Given the description of an element on the screen output the (x, y) to click on. 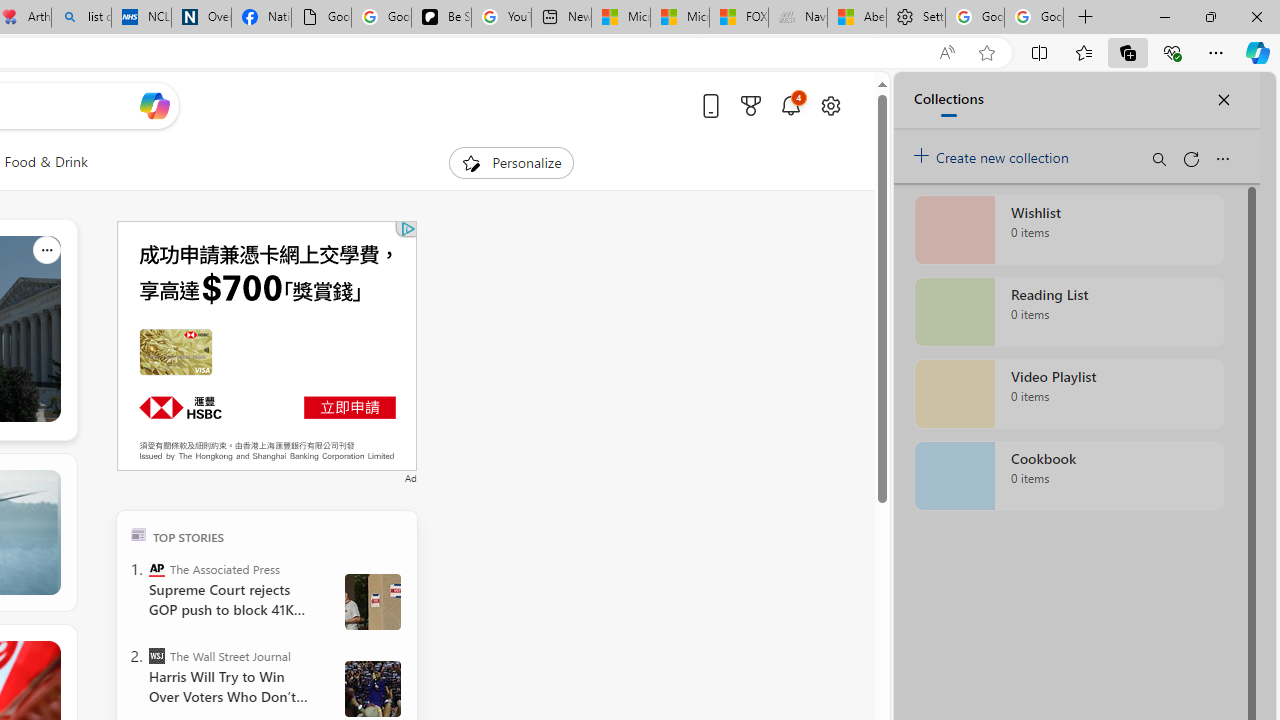
The Wall Street Journal (156, 655)
Open Copilot (155, 105)
Microsoft rewards (749, 105)
Class: qc-adchoices-link top-right  (406, 228)
list of asthma inhalers uk - Search (81, 17)
Personalize (511, 162)
NCL Adult Asthma Inhaler Choice Guideline (141, 17)
